Given the description of an element on the screen output the (x, y) to click on. 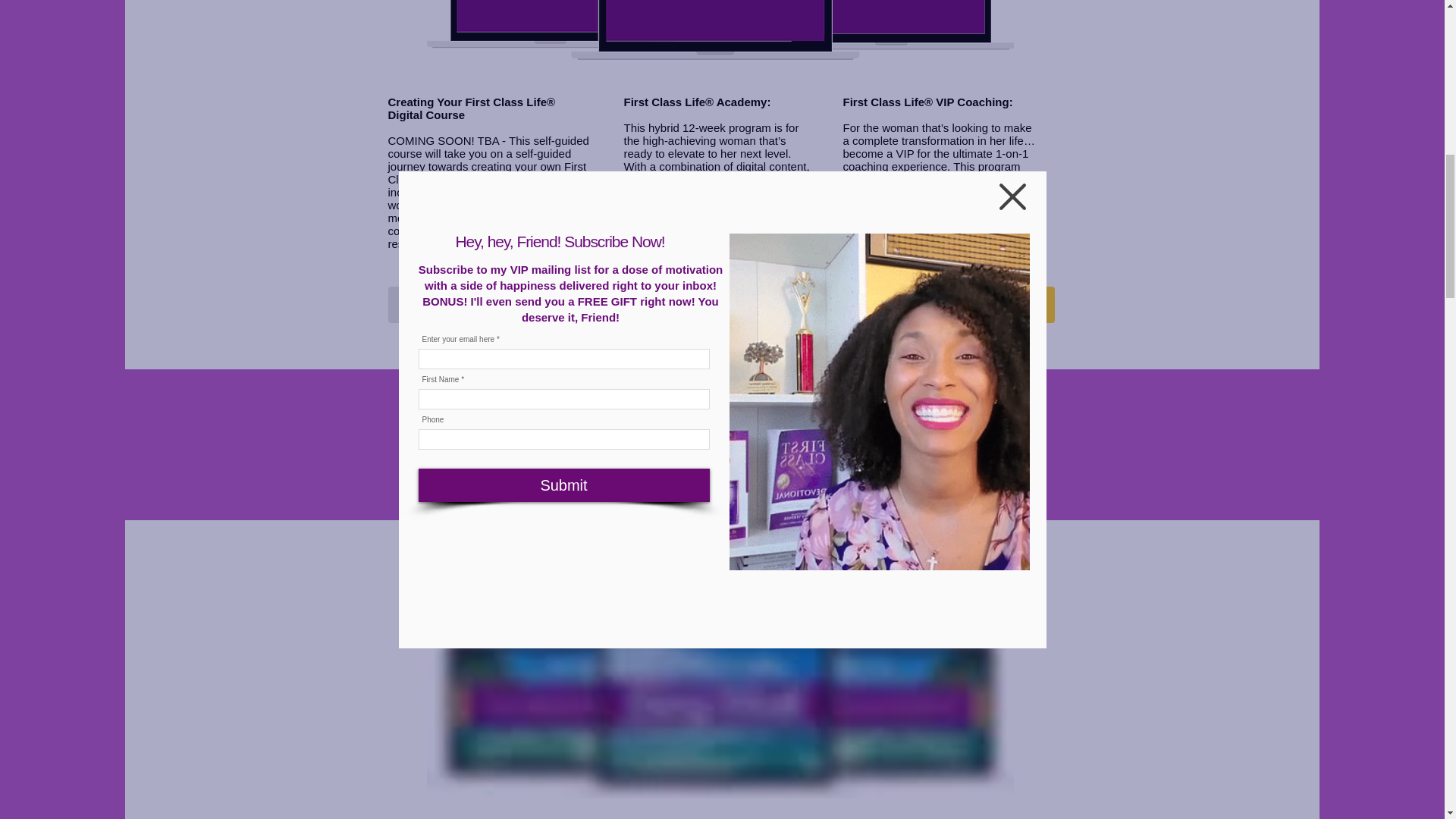
Release TBA (486, 304)
Enroll in FCL Academy (723, 304)
Apply for VIP Coaching (956, 304)
